Given the description of an element on the screen output the (x, y) to click on. 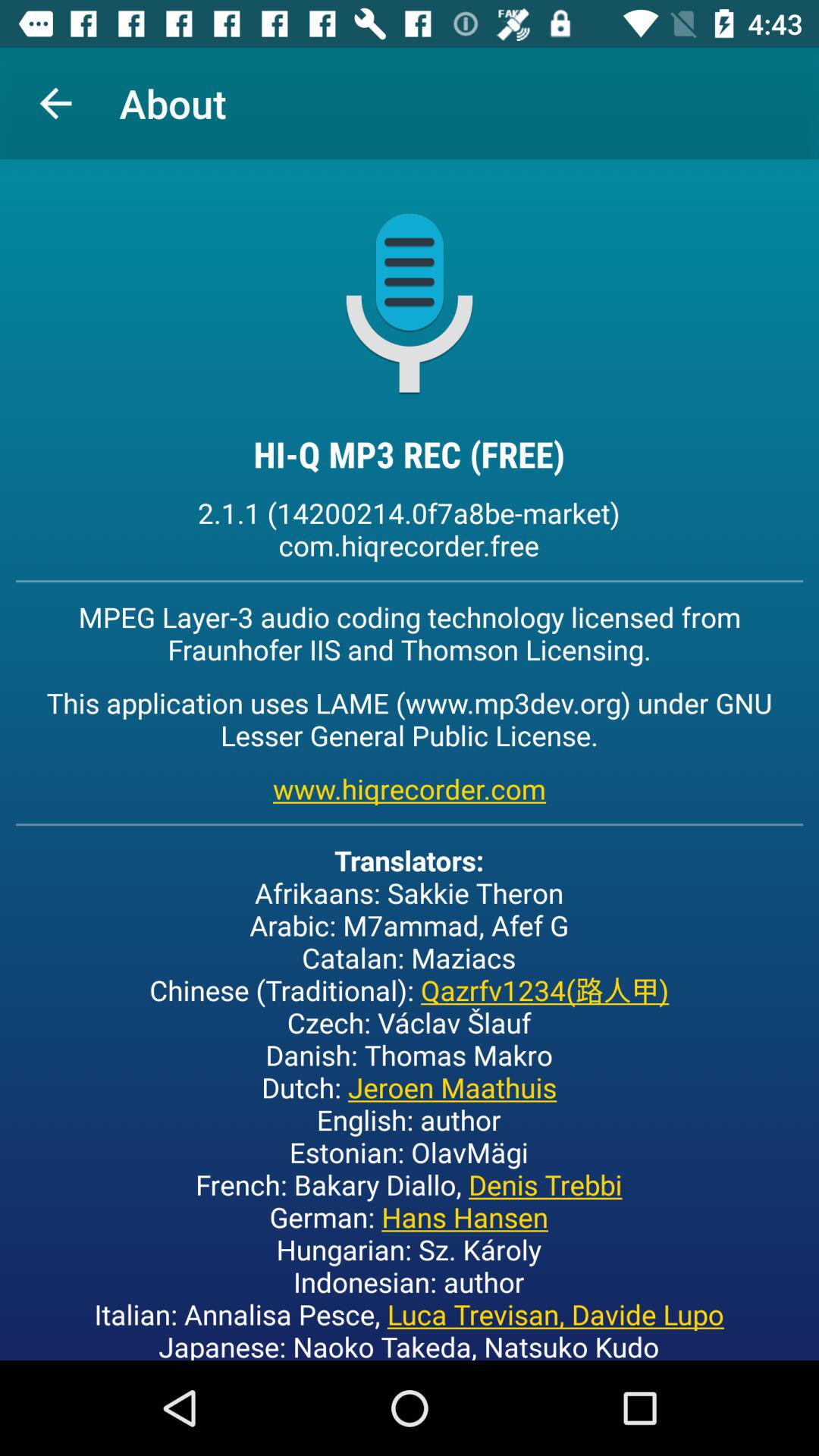
turn on the translators afrikaans sakkie (408, 1100)
